Given the description of an element on the screen output the (x, y) to click on. 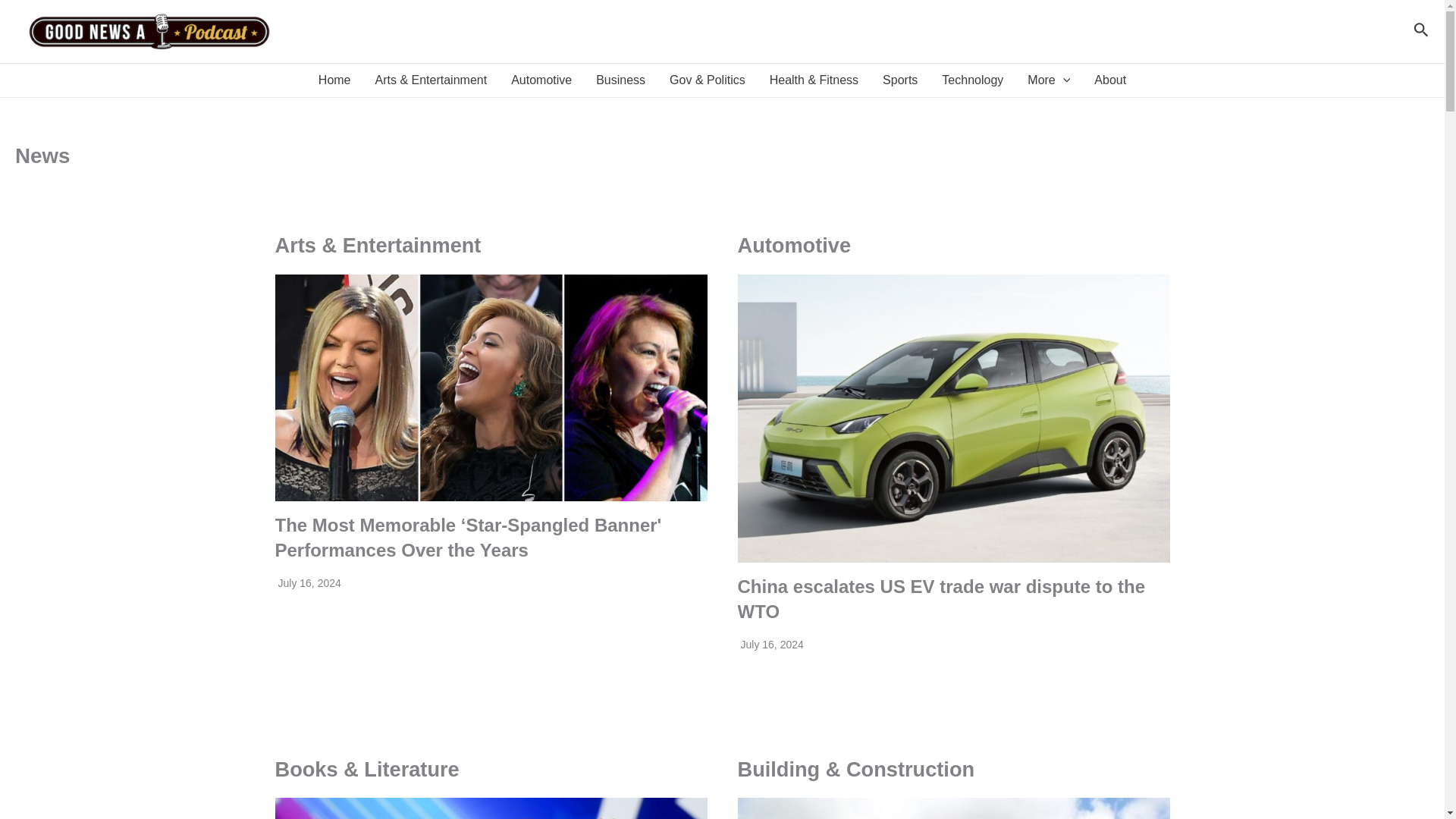
Business (620, 80)
Technology (972, 80)
Automotive (541, 80)
Home (333, 80)
More (1047, 80)
About (1109, 80)
Sports (900, 80)
